Given the description of an element on the screen output the (x, y) to click on. 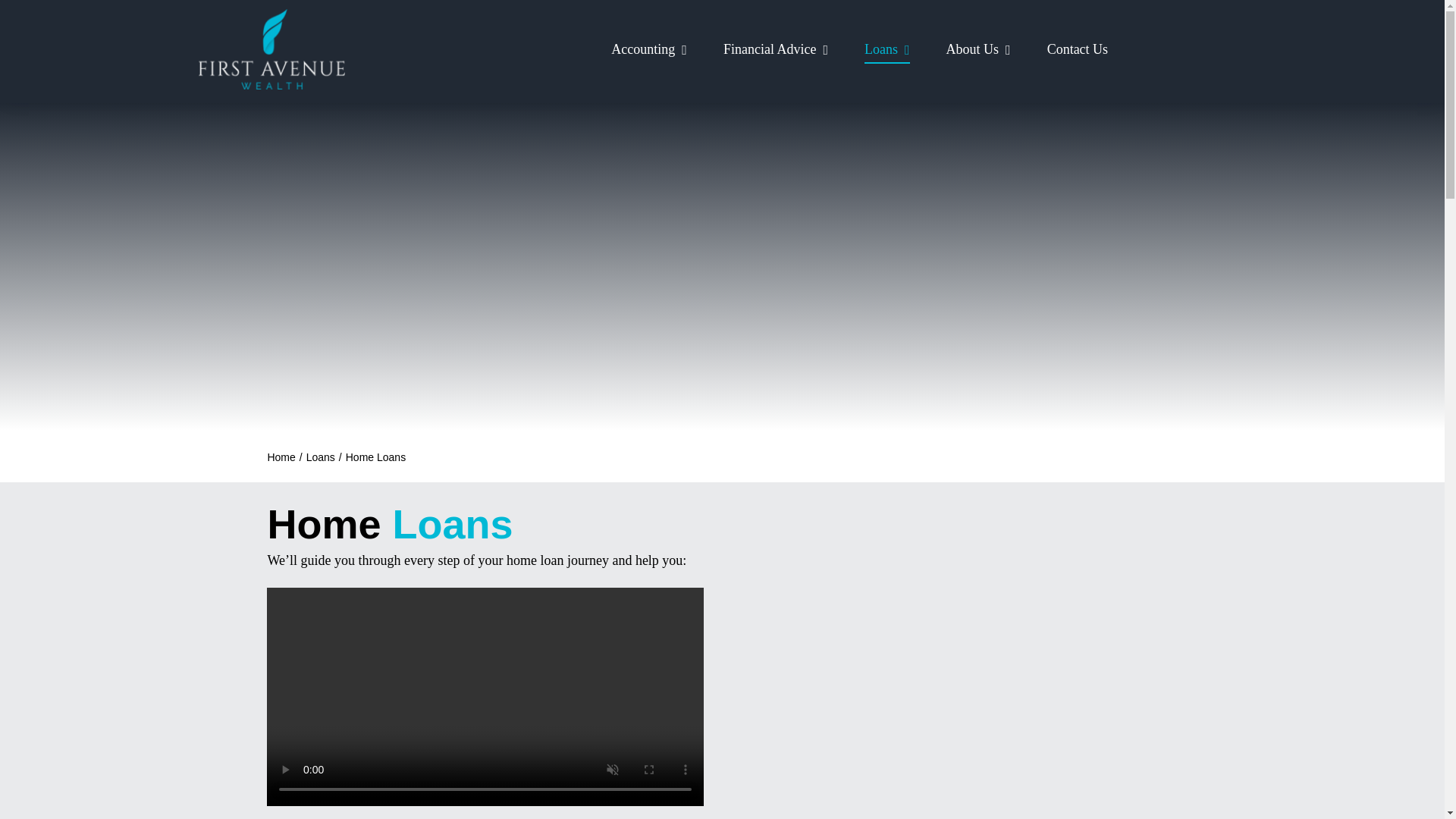
About Us (978, 50)
Accounting (649, 50)
Home (280, 457)
Loans (319, 457)
Financial Advice (775, 50)
Loans (887, 50)
Contact Us (1077, 50)
